Given the description of an element on the screen output the (x, y) to click on. 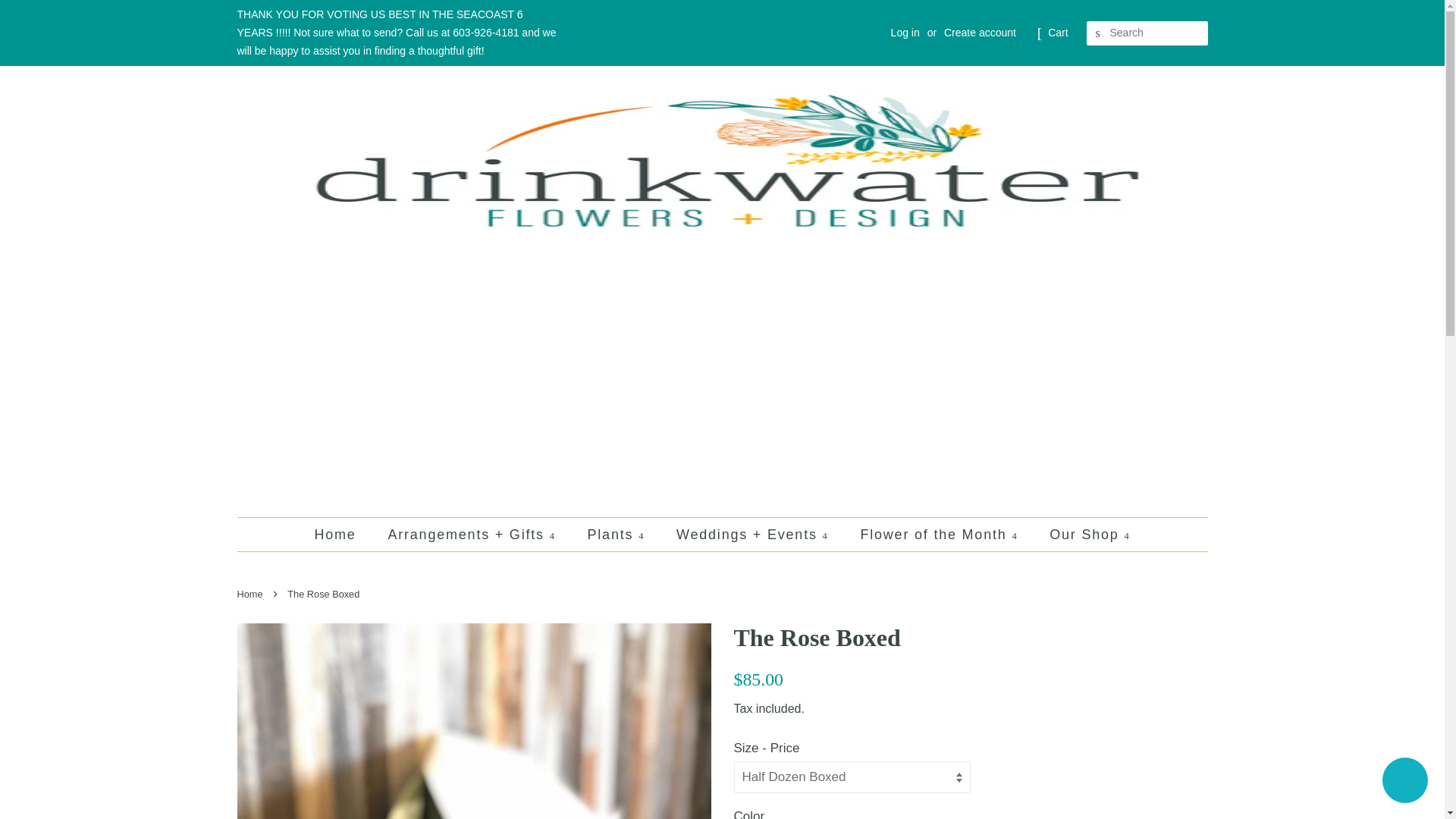
Create account (979, 32)
Cart (1057, 33)
Shopify online store chat (1404, 781)
Back to the frontpage (250, 593)
Search (1097, 33)
Log in (905, 32)
